Given the description of an element on the screen output the (x, y) to click on. 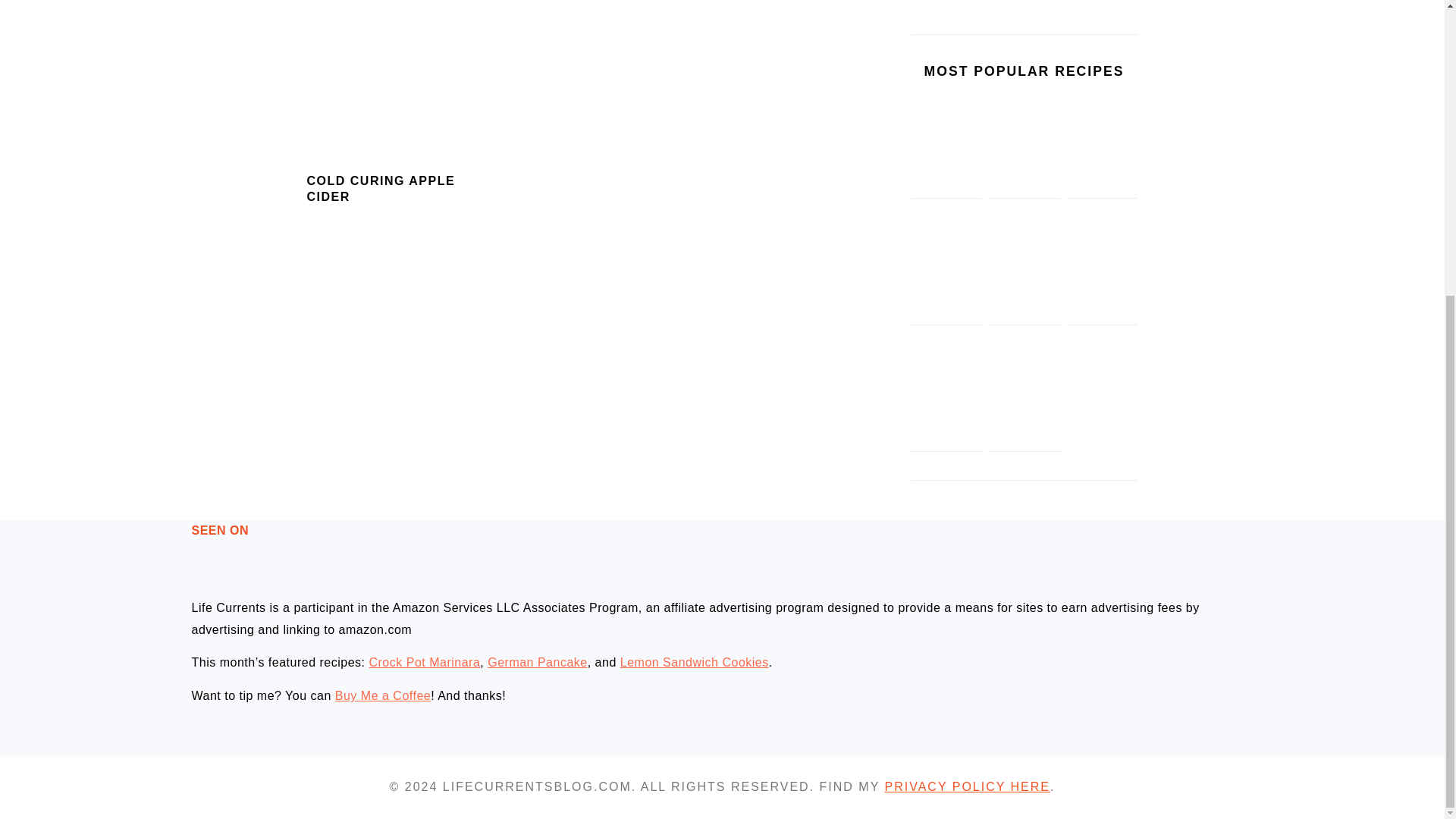
German Pancake (537, 662)
Coconut Sorbet (1101, 168)
Air Fryer Roasted Green Beans (945, 421)
Bourbon Banana Bread (1101, 421)
Cinnamon Sore Throat Tea (1023, 421)
Crock Pot Marinara (424, 662)
Buy Me a Coffee (382, 695)
Pepper Jelly Cheese Dip (1023, 168)
Lemon Sandwich Cookies (694, 662)
PRIVACY POLICY HERE (966, 786)
Cottage Cheese Chocolate Pudding (1023, 295)
Cottage Cheese Ranch Dressing (945, 295)
COLD CURING APPLE CIDER (379, 188)
Lemon Cottage Cheese Pudding (945, 168)
